Given the description of an element on the screen output the (x, y) to click on. 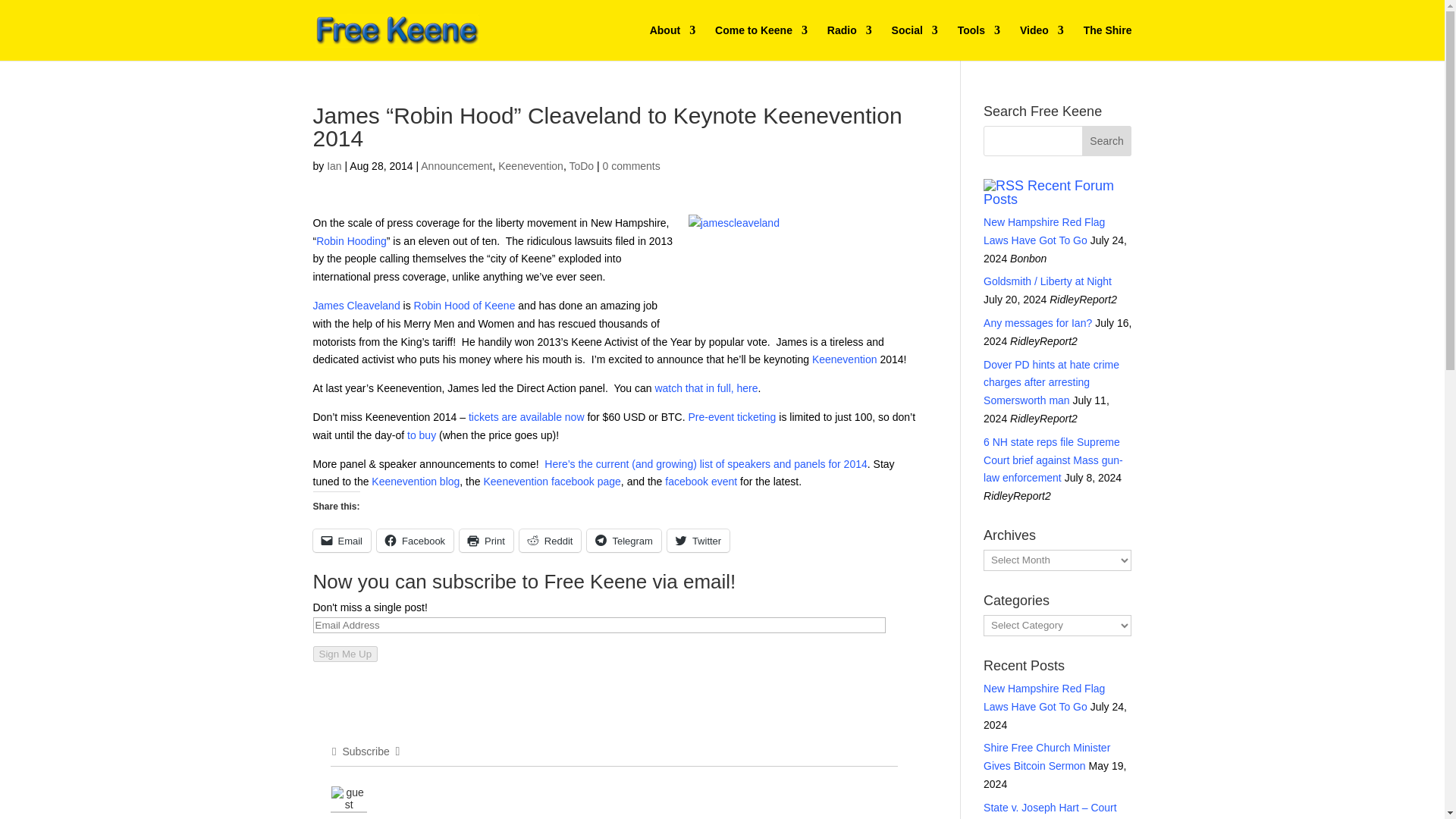
Click to share on Facebook (414, 540)
Come to Keene (761, 42)
Posts by Ian (333, 165)
Tools (979, 42)
Radio (849, 42)
Click to share on Telegram (623, 540)
Click to share on Reddit (549, 540)
0 comments (631, 165)
Click to print (486, 540)
The Shire (1107, 42)
James Cleaveland (355, 305)
Ian (333, 165)
Keenevention (530, 165)
Video (1042, 42)
About (672, 42)
